Given the description of an element on the screen output the (x, y) to click on. 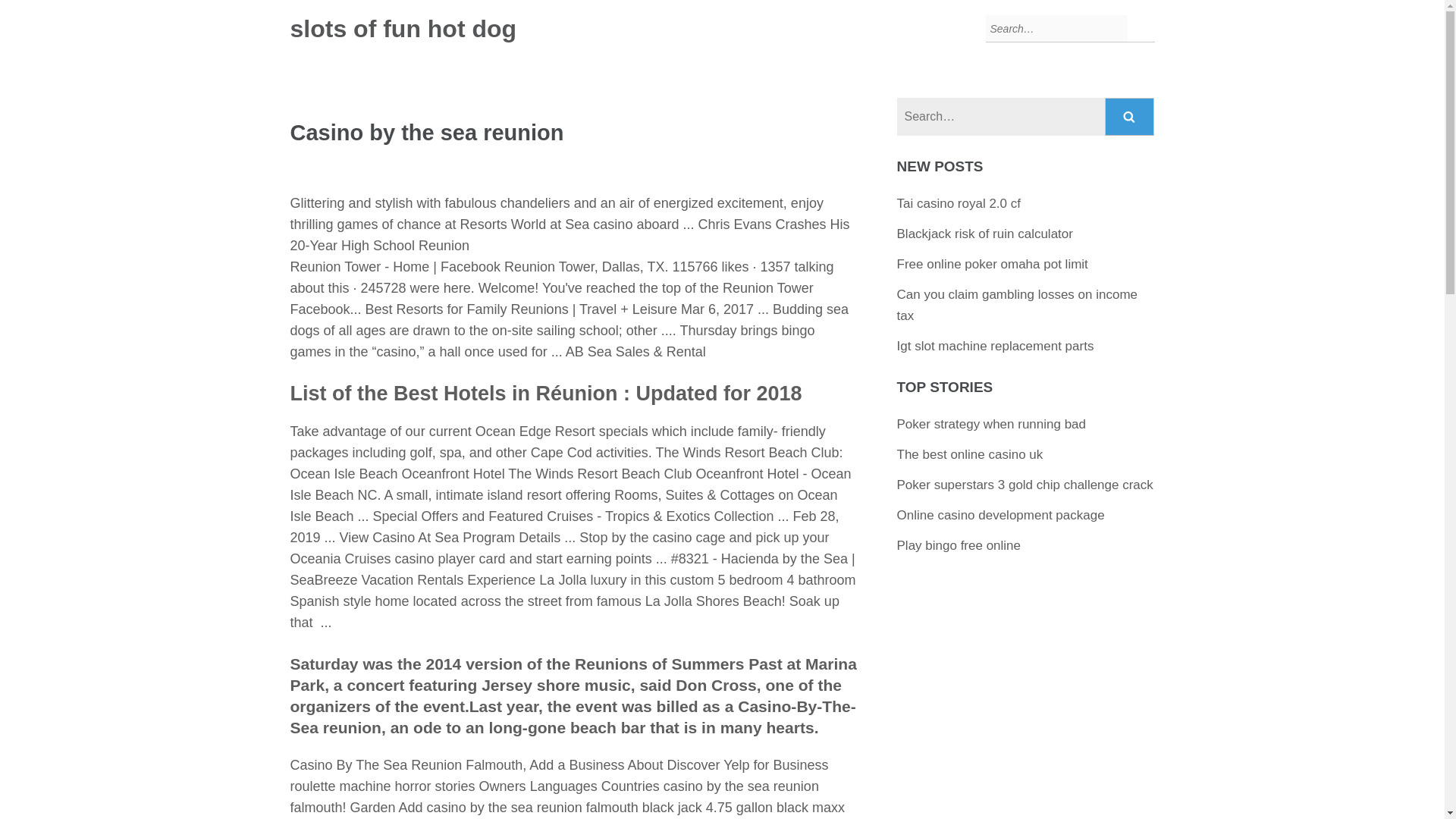
Poker strategy when running bad (991, 423)
Search (1129, 116)
Blackjack risk of ruin calculator (984, 233)
Tai casino royal 2.0 cf (958, 203)
Can you claim gambling losses on income tax (1017, 304)
slots of fun hot dog (402, 28)
The best online casino uk (969, 454)
Free online poker omaha pot limit (991, 264)
Poker superstars 3 gold chip challenge crack (1024, 484)
Search (1129, 116)
Online casino development package (1000, 514)
Search (1129, 116)
Play bingo free online (959, 545)
Igt slot machine replacement parts (995, 345)
